Given the description of an element on the screen output the (x, y) to click on. 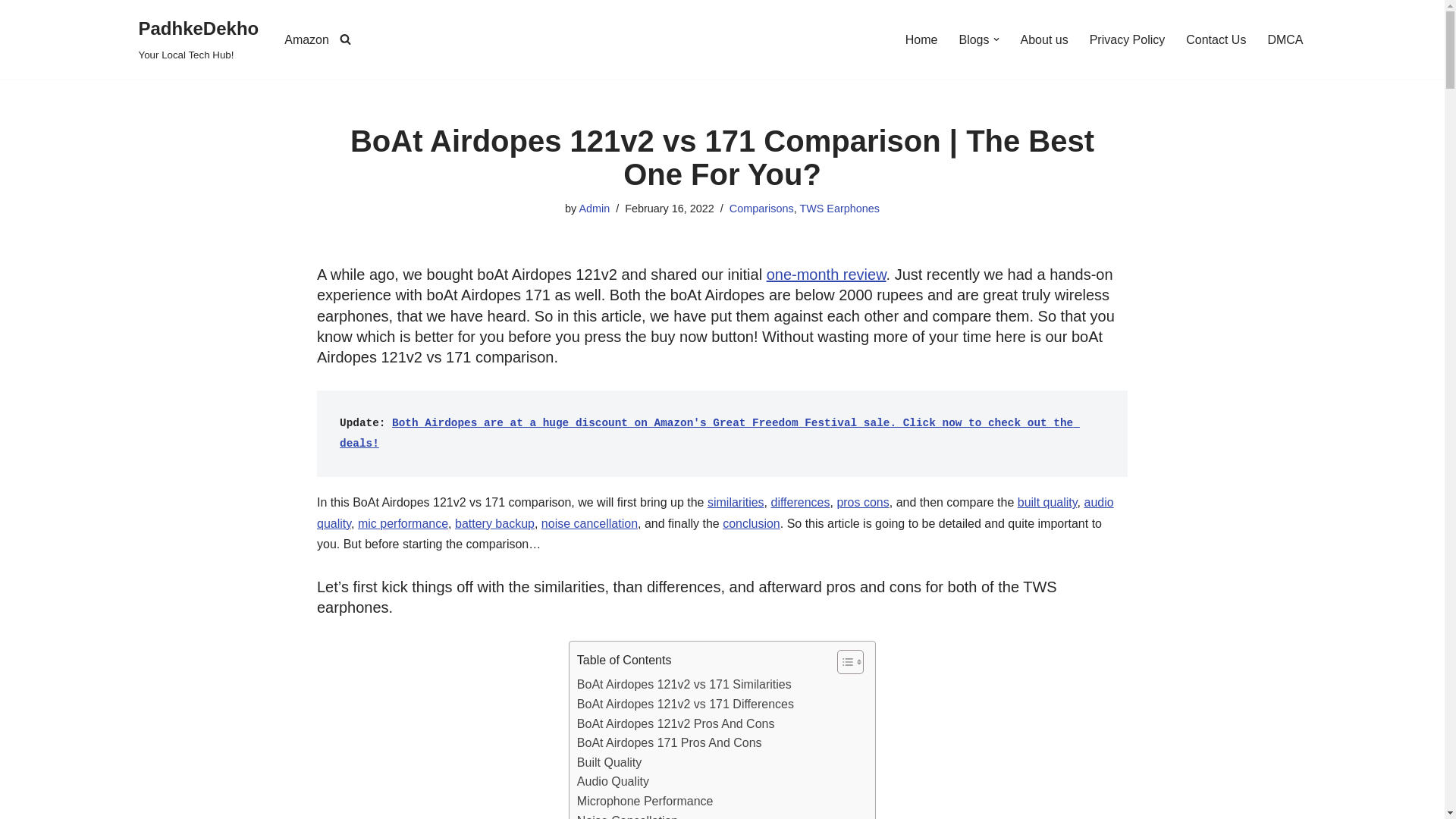
DMCA (1284, 39)
BoAt Airdopes 171 Pros And Cons (668, 742)
Amazon (306, 39)
Posts by Admin (594, 208)
Blogs (973, 39)
Microphone Performance (198, 39)
Skip to content (644, 801)
Built Quality (11, 31)
Contact Us (609, 762)
Privacy Policy (1216, 39)
About us (1127, 39)
Home (1044, 39)
BoAt Airdopes 121v2 vs 171 Similarities (921, 39)
BoAt Airdopes 121v2 vs 171 Differences (684, 684)
